Given the description of an element on the screen output the (x, y) to click on. 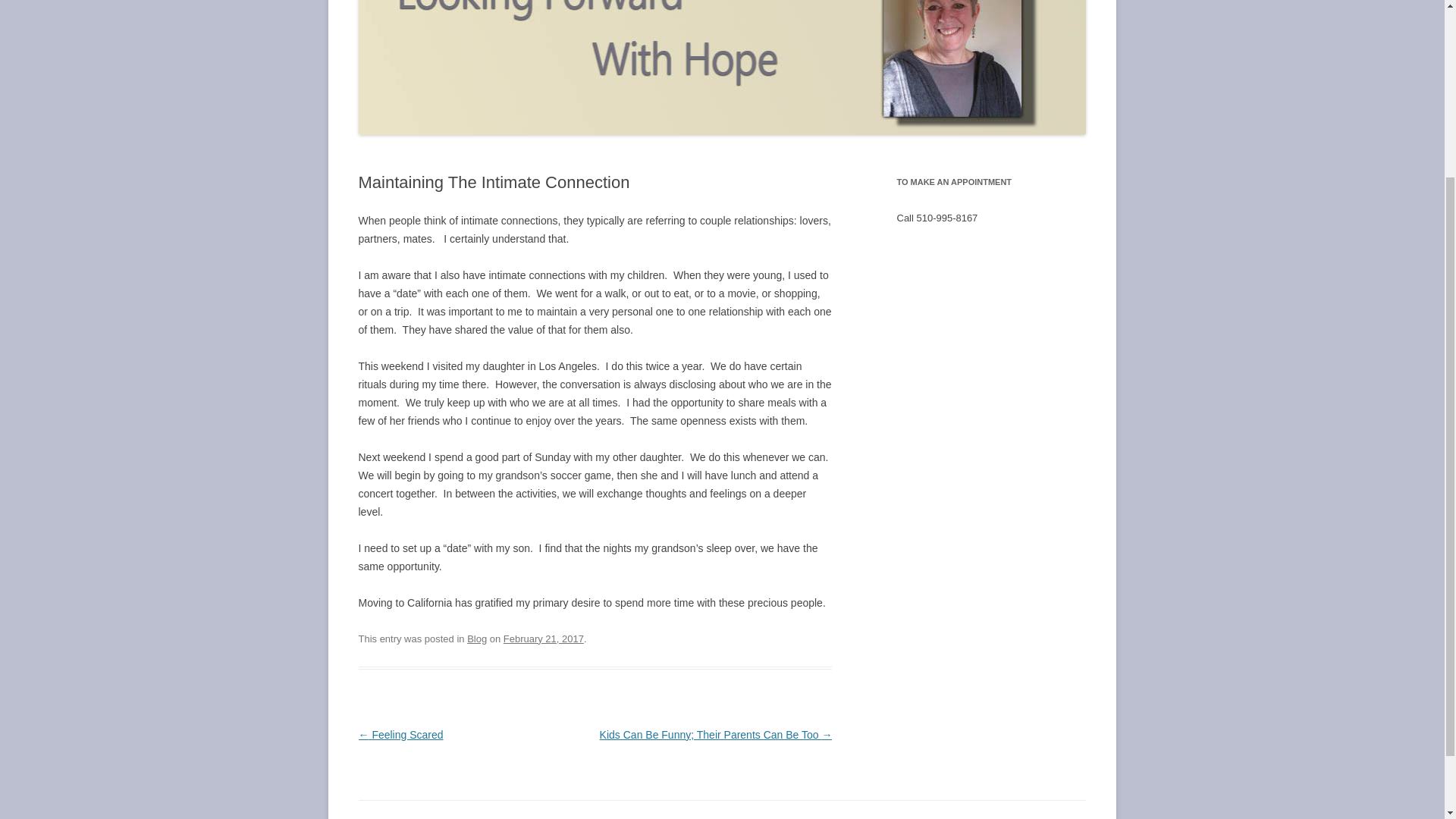
February 21, 2017 (543, 638)
7:51 am (543, 638)
Blog (476, 638)
